Given the description of an element on the screen output the (x, y) to click on. 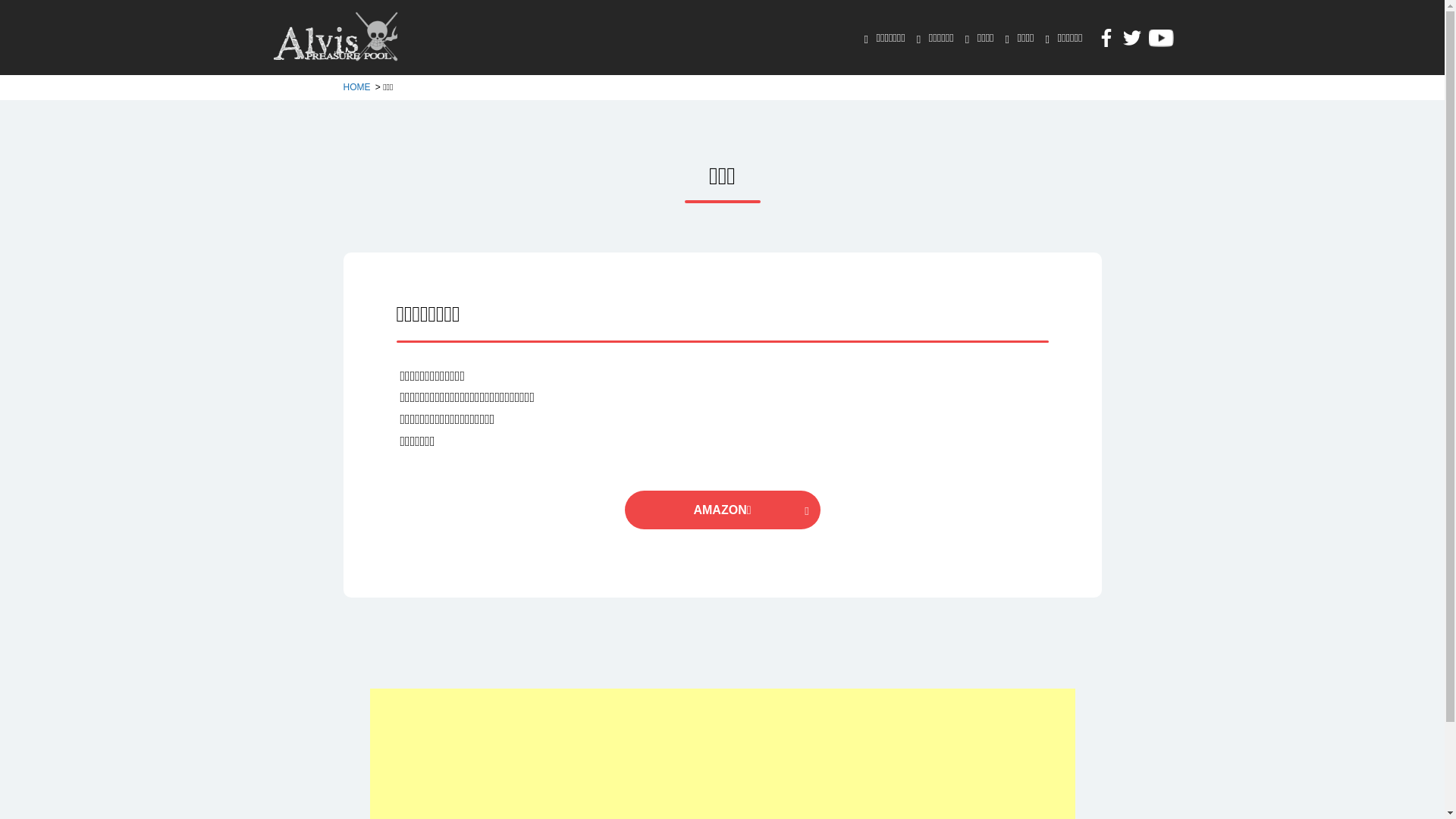
HOME Element type: text (357, 86)
